Given the description of an element on the screen output the (x, y) to click on. 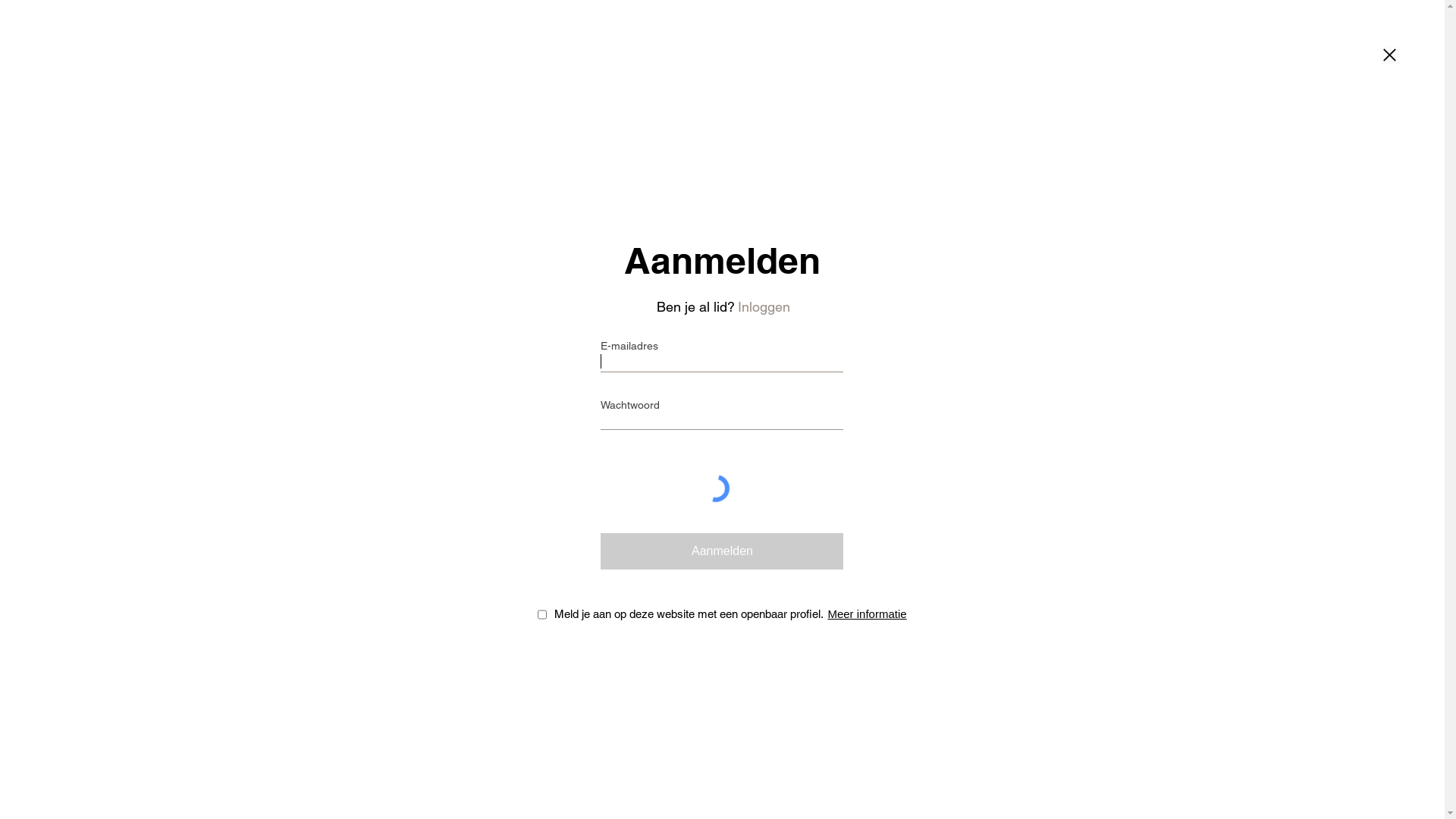
Meer informatie Element type: text (870, 613)
Inloggen Element type: text (763, 306)
Aanmelden Element type: text (721, 551)
